Given the description of an element on the screen output the (x, y) to click on. 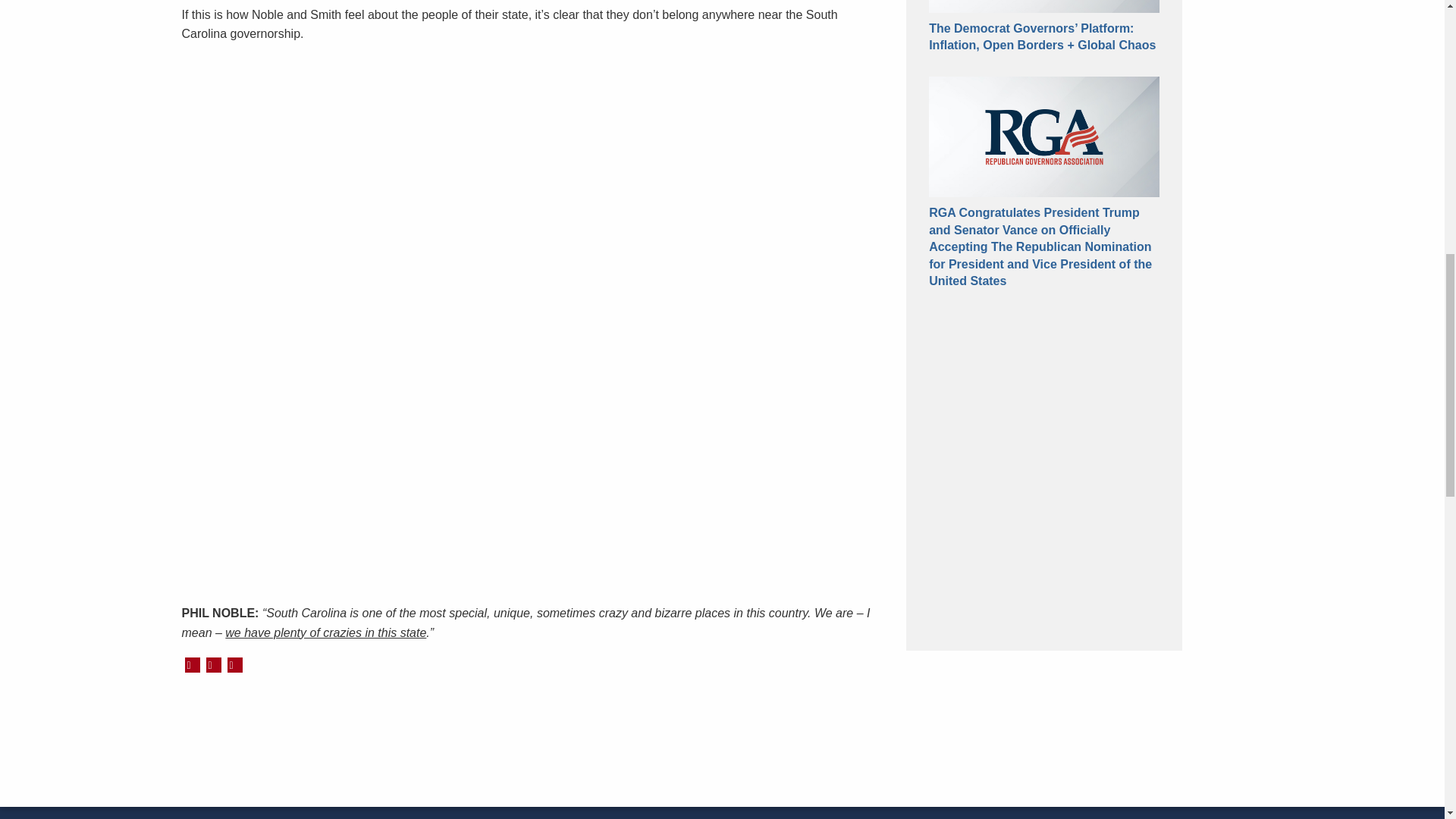
Email This (235, 664)
Facebook (213, 664)
